Given the description of an element on the screen output the (x, y) to click on. 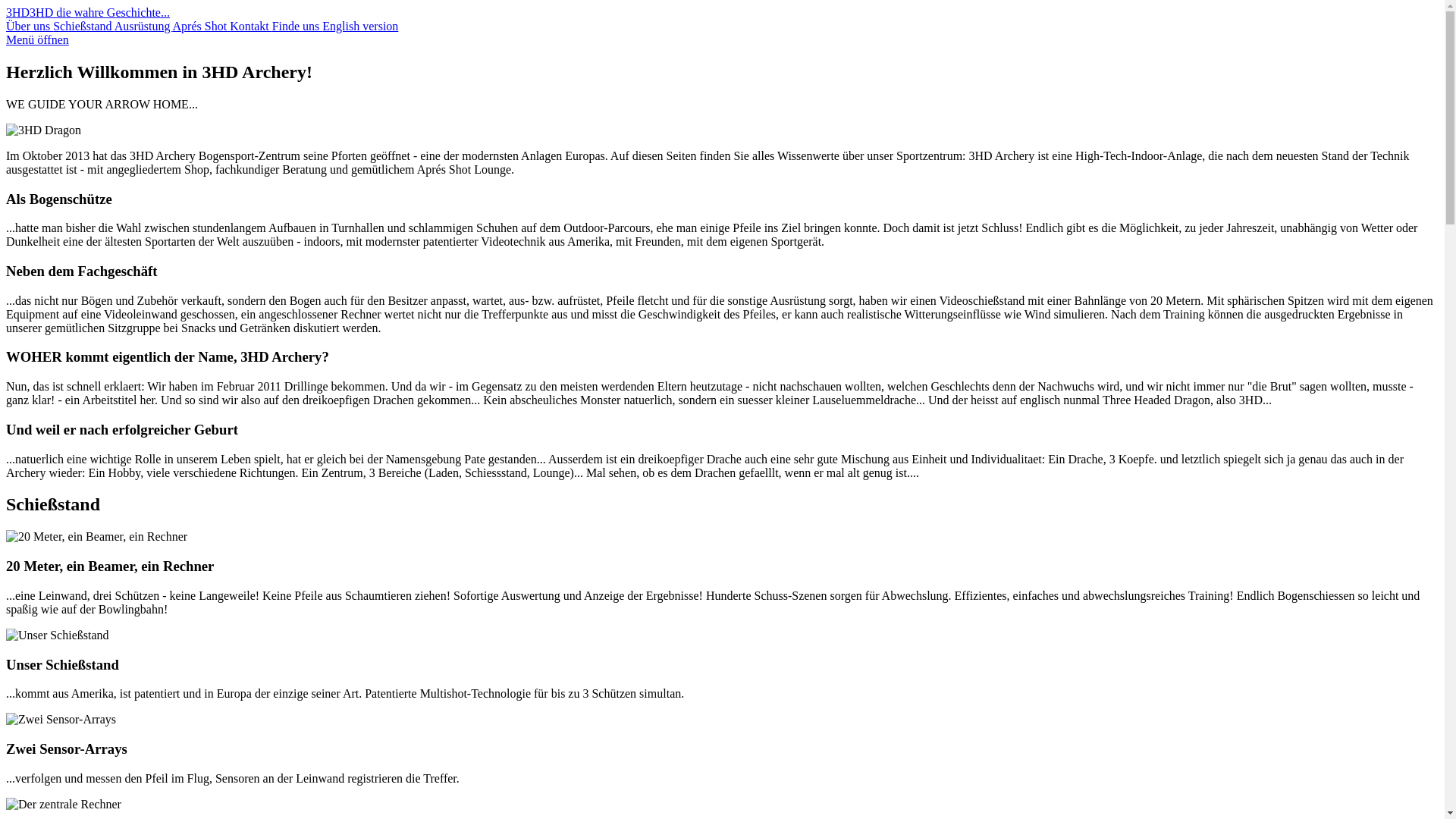
Kontakt Element type: text (250, 25)
3HD3HD die wahre Geschichte... Element type: text (87, 12)
Finde uns Element type: text (297, 25)
English version Element type: text (360, 25)
